Given the description of an element on the screen output the (x, y) to click on. 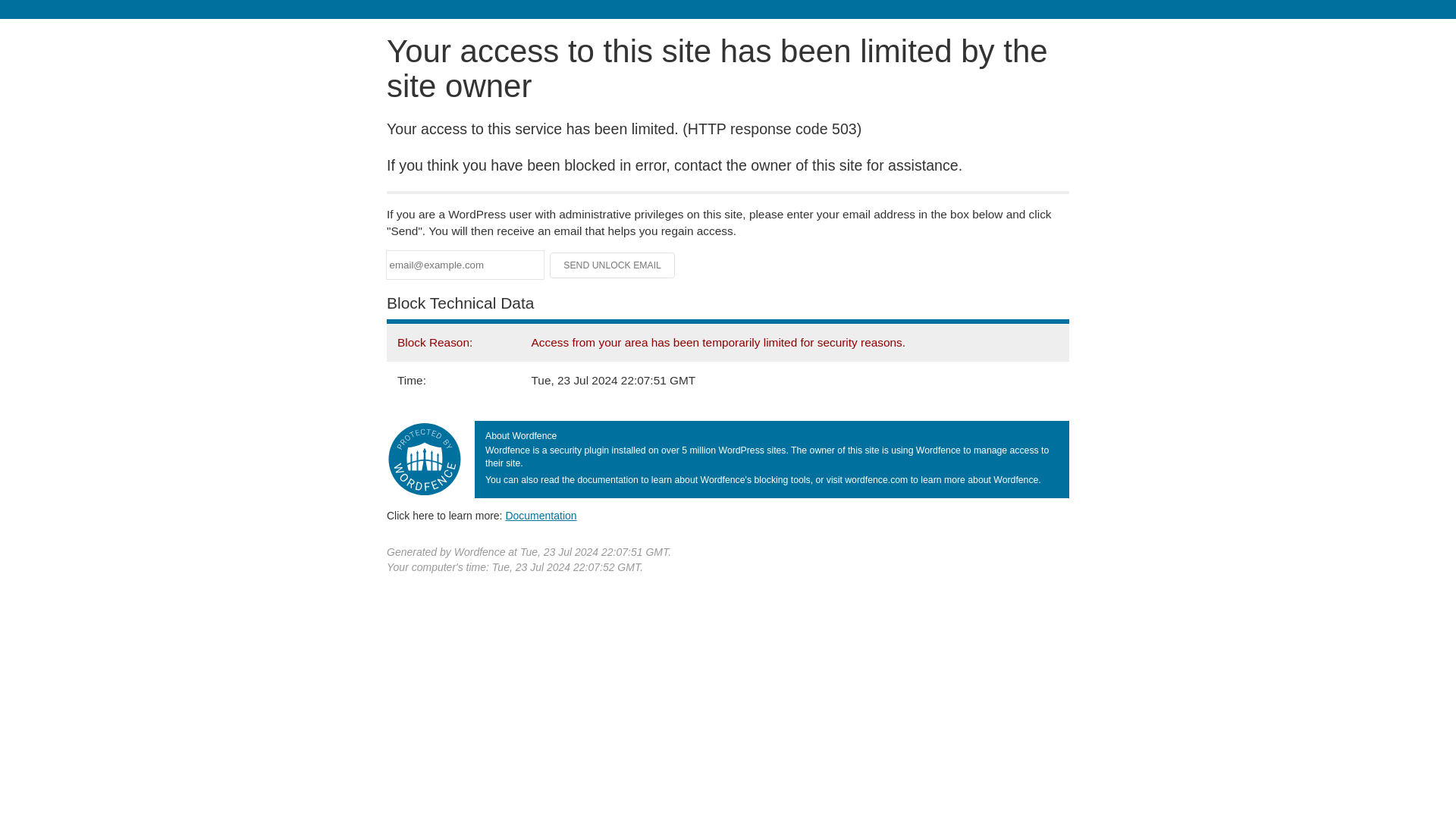
Send Unlock Email (612, 265)
Send Unlock Email (612, 265)
Documentation (540, 515)
